Given the description of an element on the screen output the (x, y) to click on. 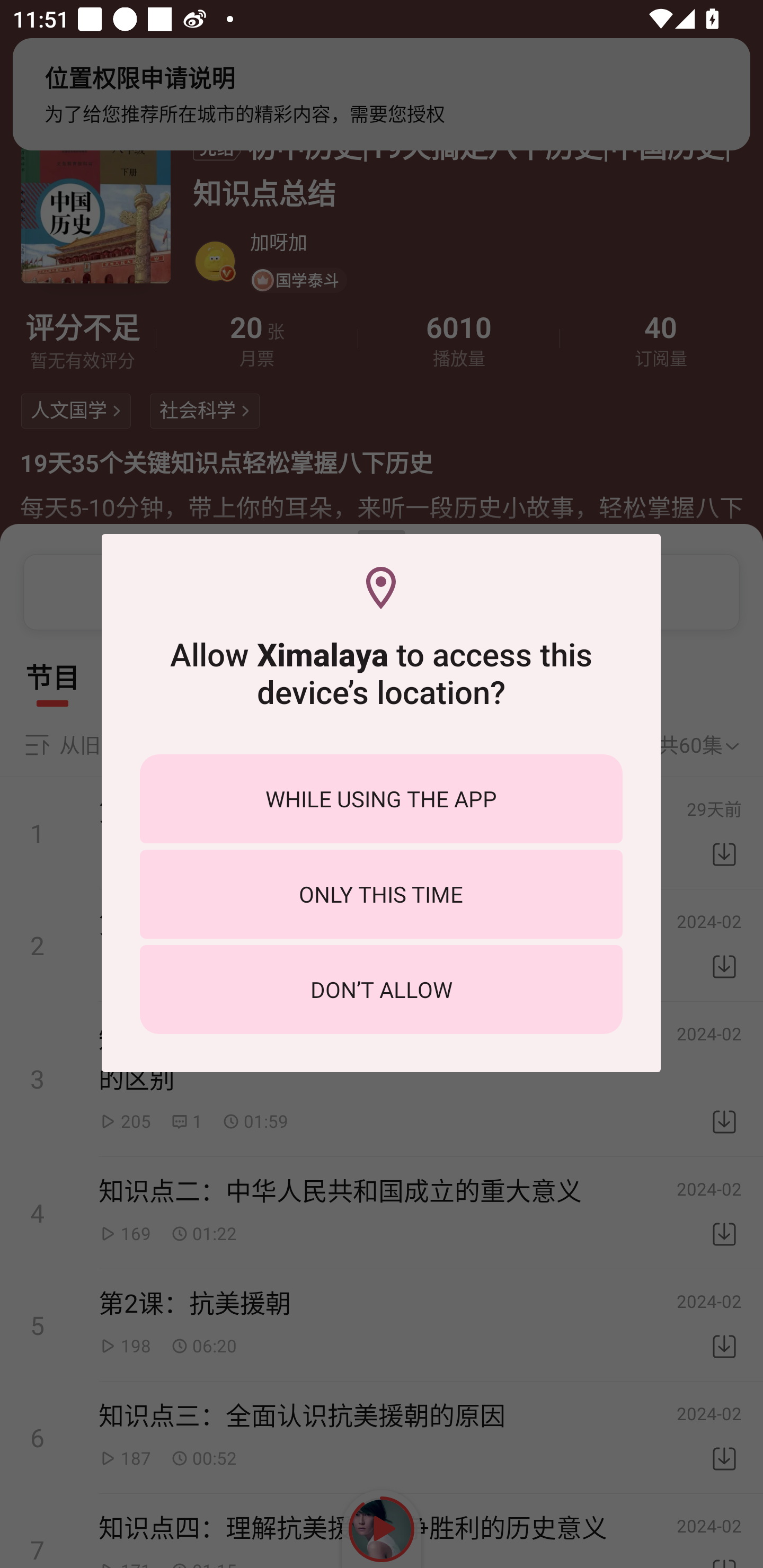
WHILE USING THE APP (380, 798)
ONLY THIS TIME (380, 894)
DON’T ALLOW (380, 989)
